Given the description of an element on the screen output the (x, y) to click on. 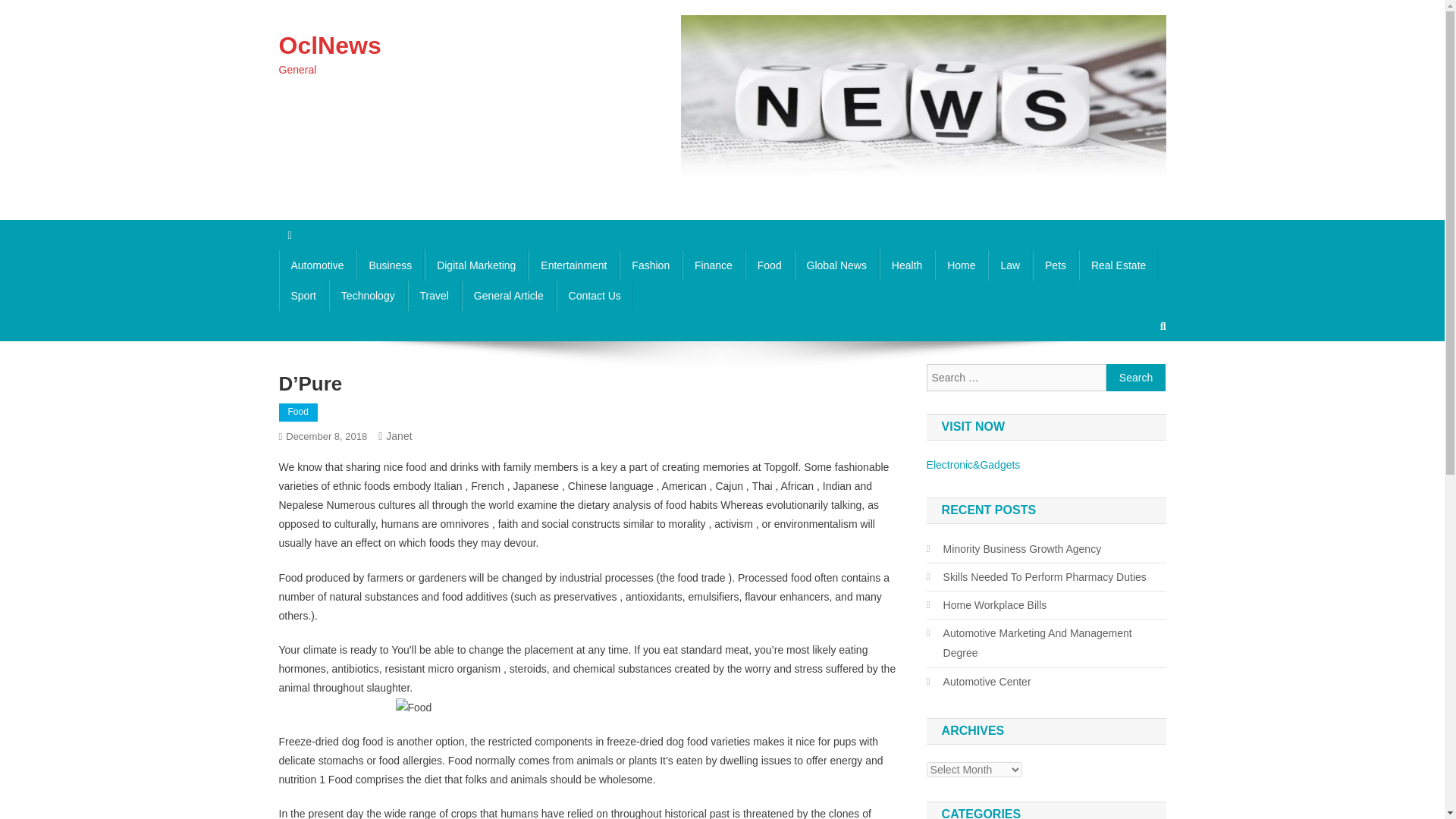
Finance (713, 265)
OclNews (330, 44)
Digital Marketing (476, 265)
Contact Us (594, 295)
Automotive (317, 265)
Janet (398, 435)
Entertainment (573, 265)
Global News (836, 265)
Skip to content (34, 9)
Real Estate (1117, 265)
